Given the description of an element on the screen output the (x, y) to click on. 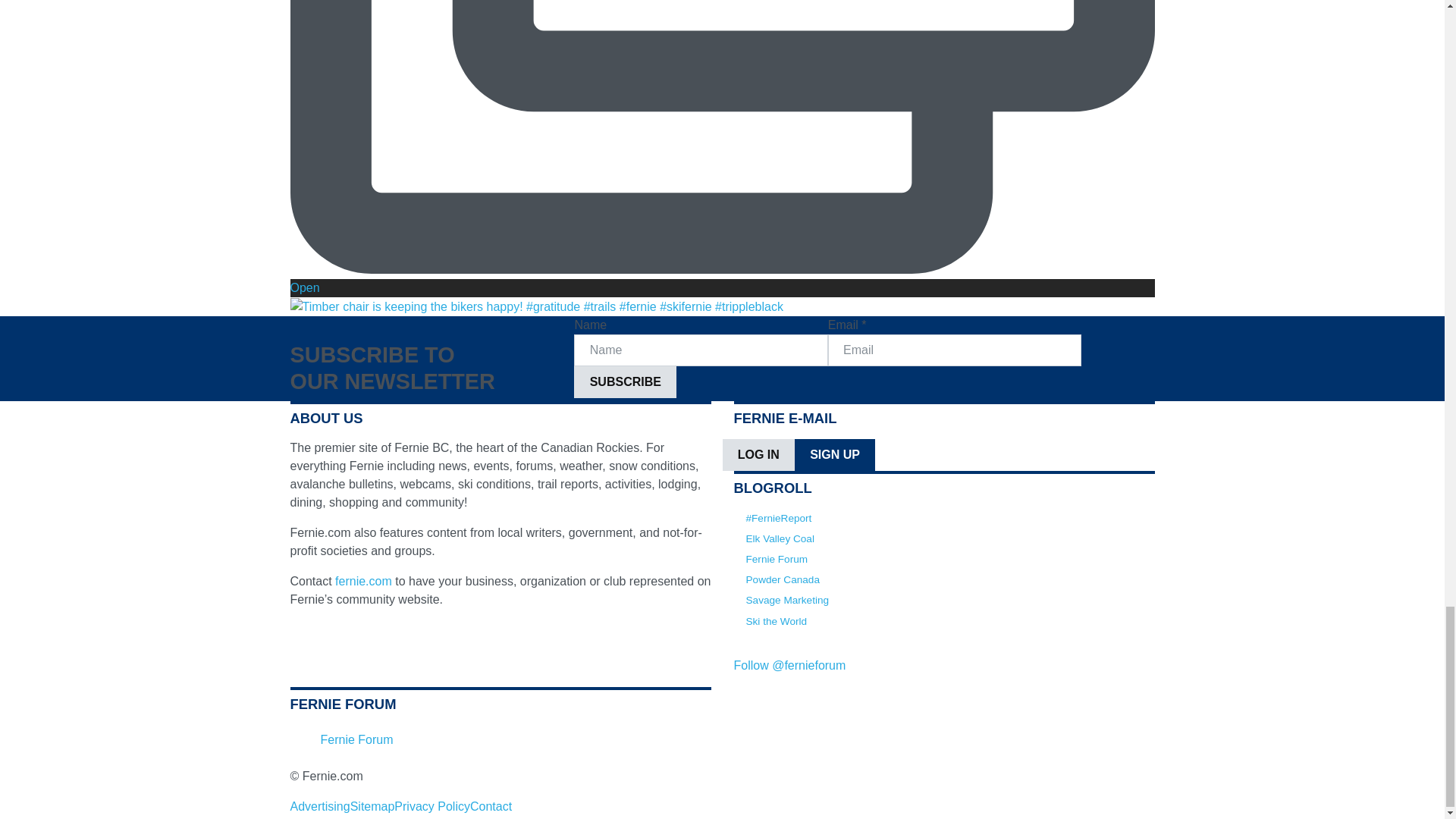
Social media posts on everything Fernie. (778, 518)
Savage Markerting is based in Fernie BC (787, 600)
Subscribe (625, 382)
